Given the description of an element on the screen output the (x, y) to click on. 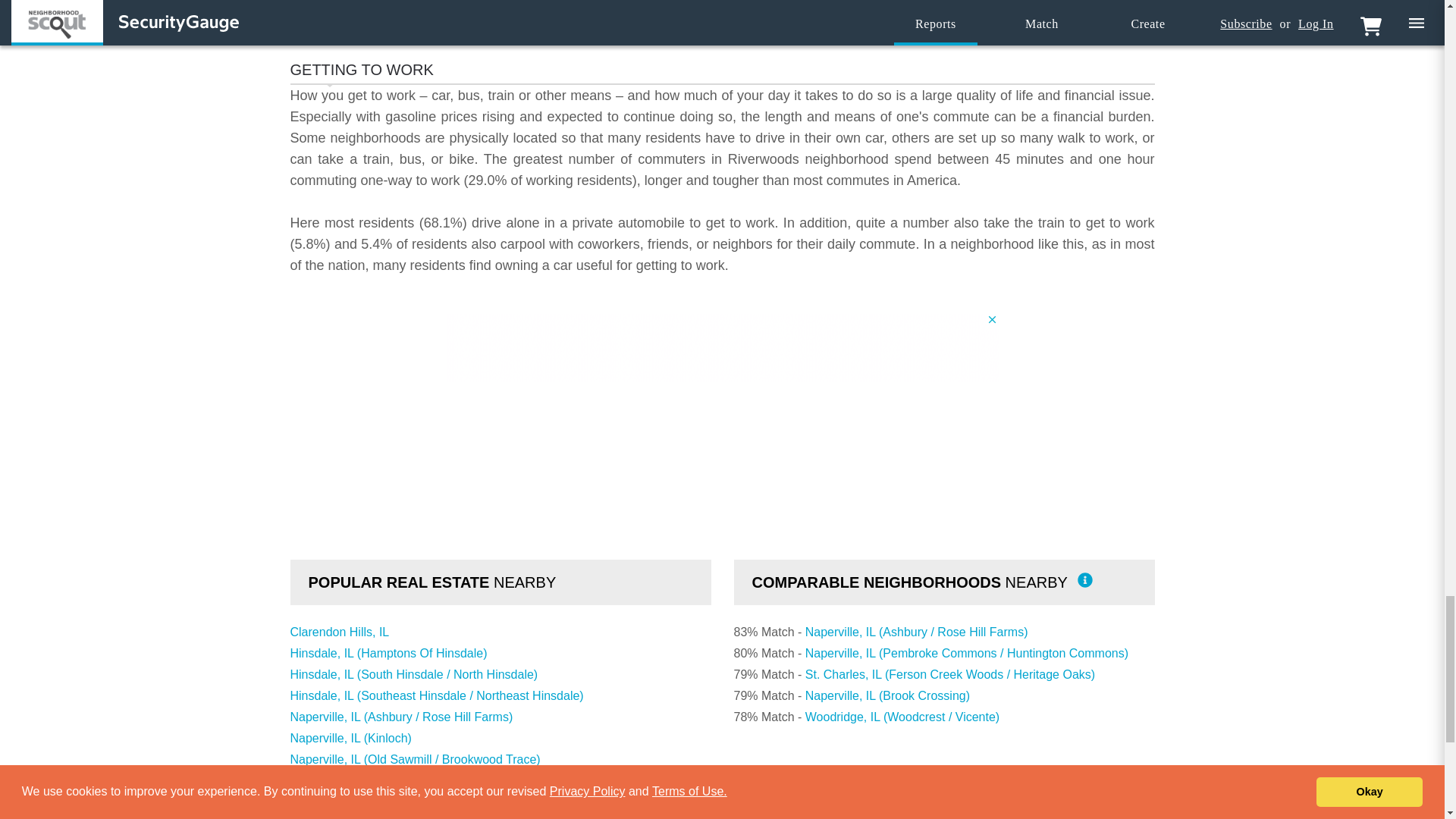
3rd party ad content (721, 346)
